Given the description of an element on the screen output the (x, y) to click on. 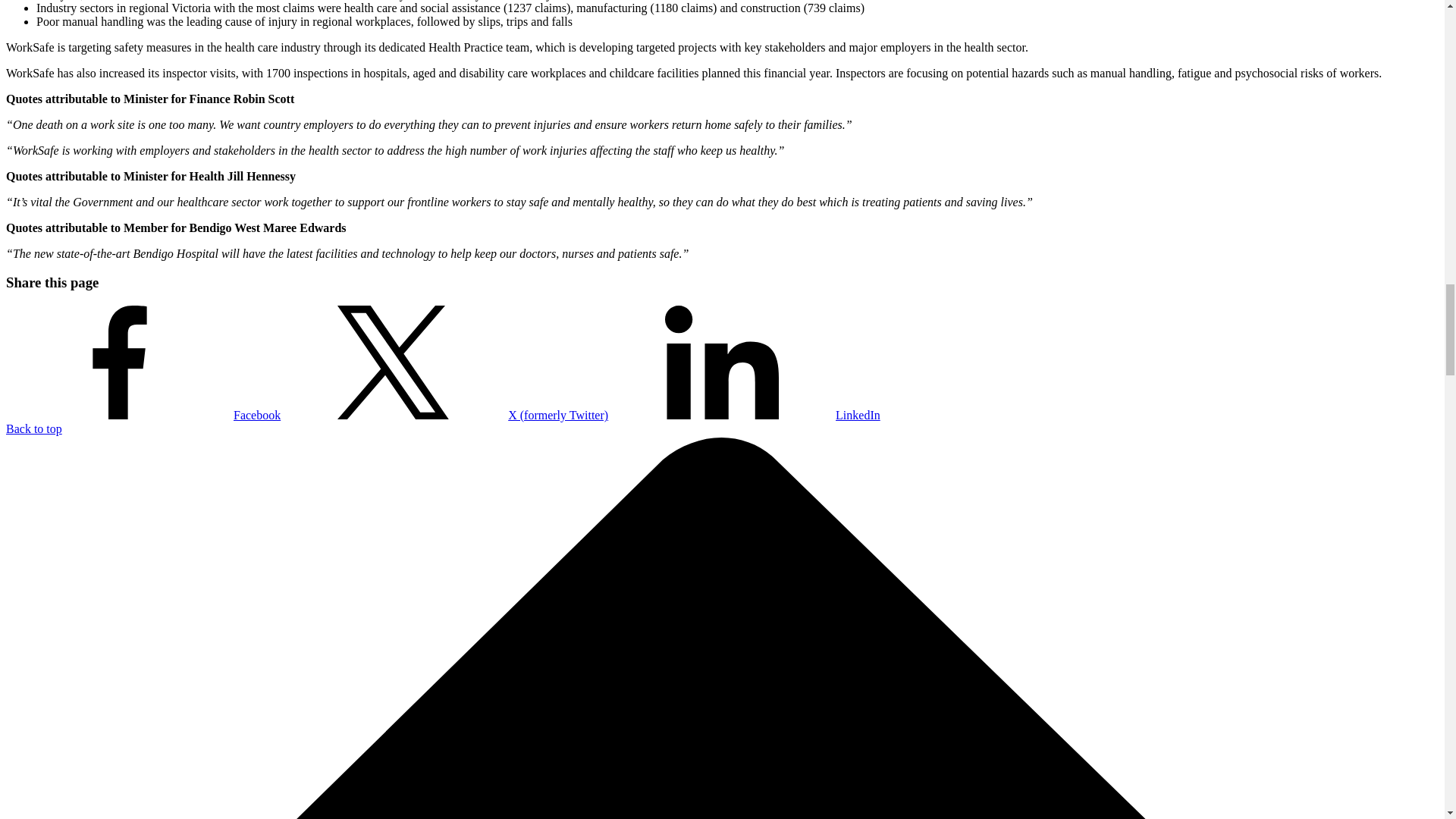
LinkedIn (744, 414)
Facebook (143, 414)
